Given the description of an element on the screen output the (x, y) to click on. 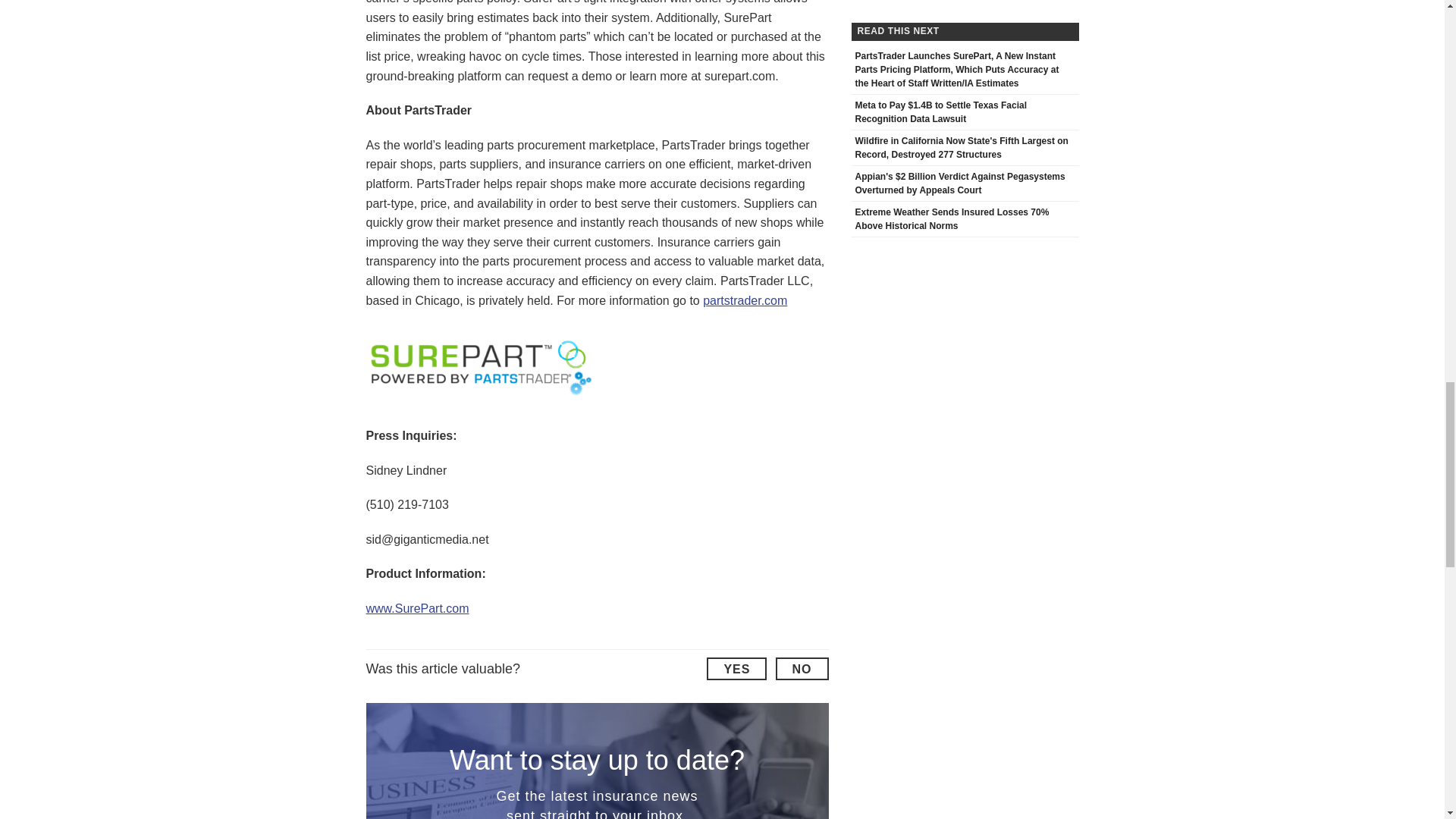
YES (736, 668)
NO (801, 668)
www.SurePart.com (416, 608)
partstrader.com (745, 300)
